Given the description of an element on the screen output the (x, y) to click on. 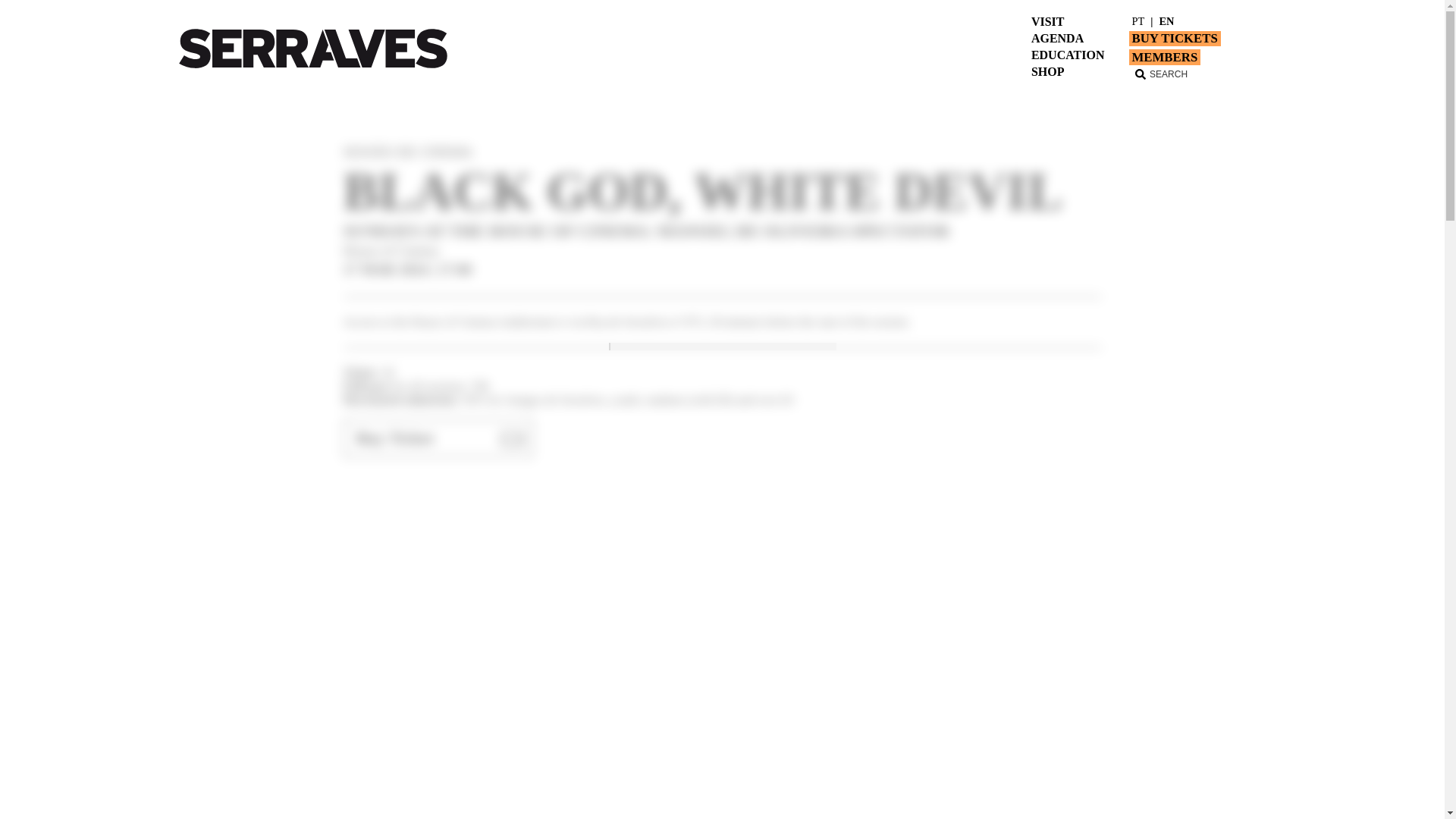
Buy Ticket (437, 438)
BUY TICKETS (1174, 38)
EDUCATION (1067, 55)
Submit (409, 28)
VISIT (1047, 21)
MEMBERS (1163, 57)
SHOP (1047, 71)
EN (1166, 21)
PT (1137, 21)
AGENDA (1056, 38)
